Given the description of an element on the screen output the (x, y) to click on. 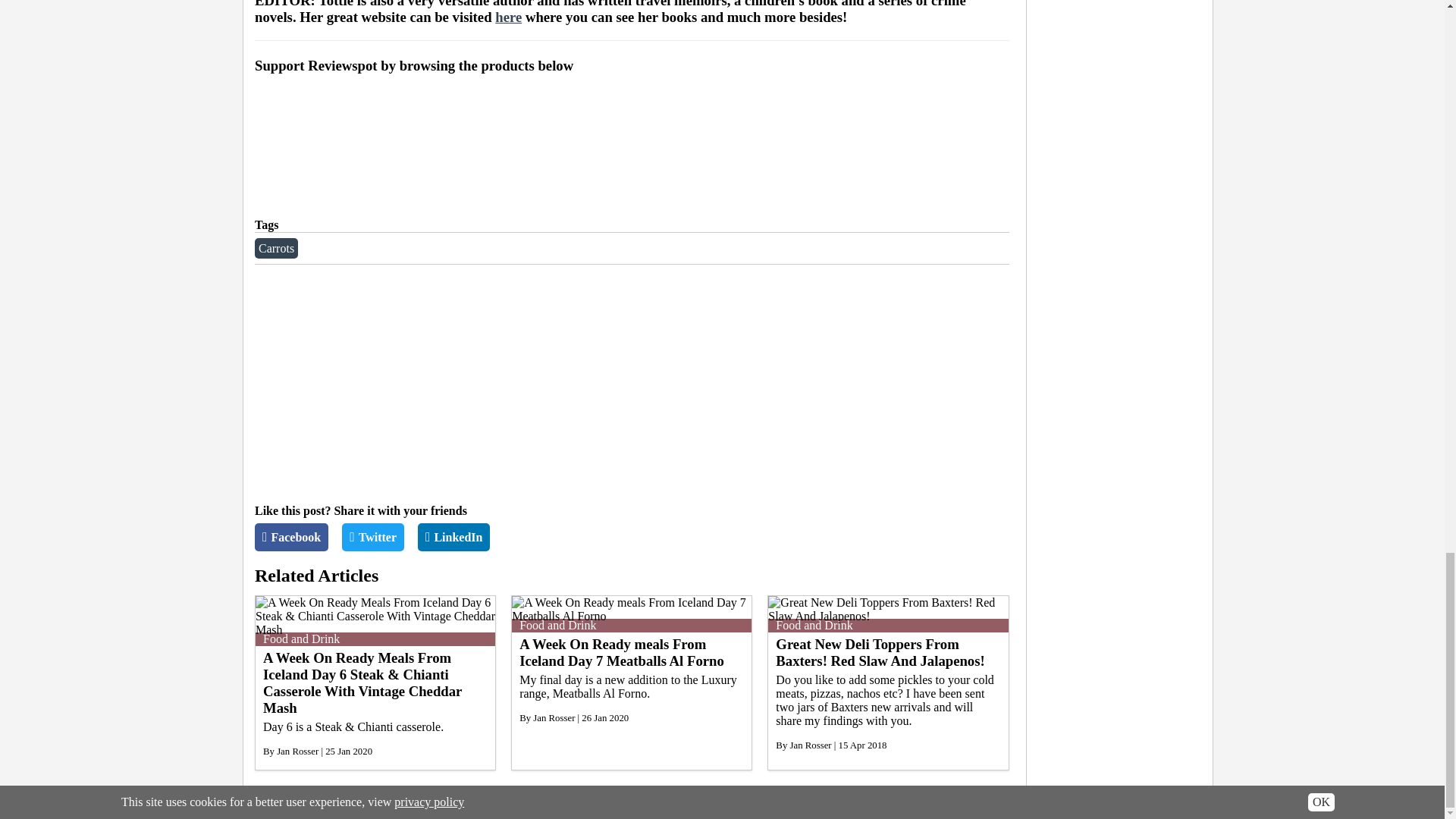
Carrots (276, 248)
LinkedIn (453, 537)
Facebook (291, 537)
Twitter (373, 537)
here (508, 17)
